Given the description of an element on the screen output the (x, y) to click on. 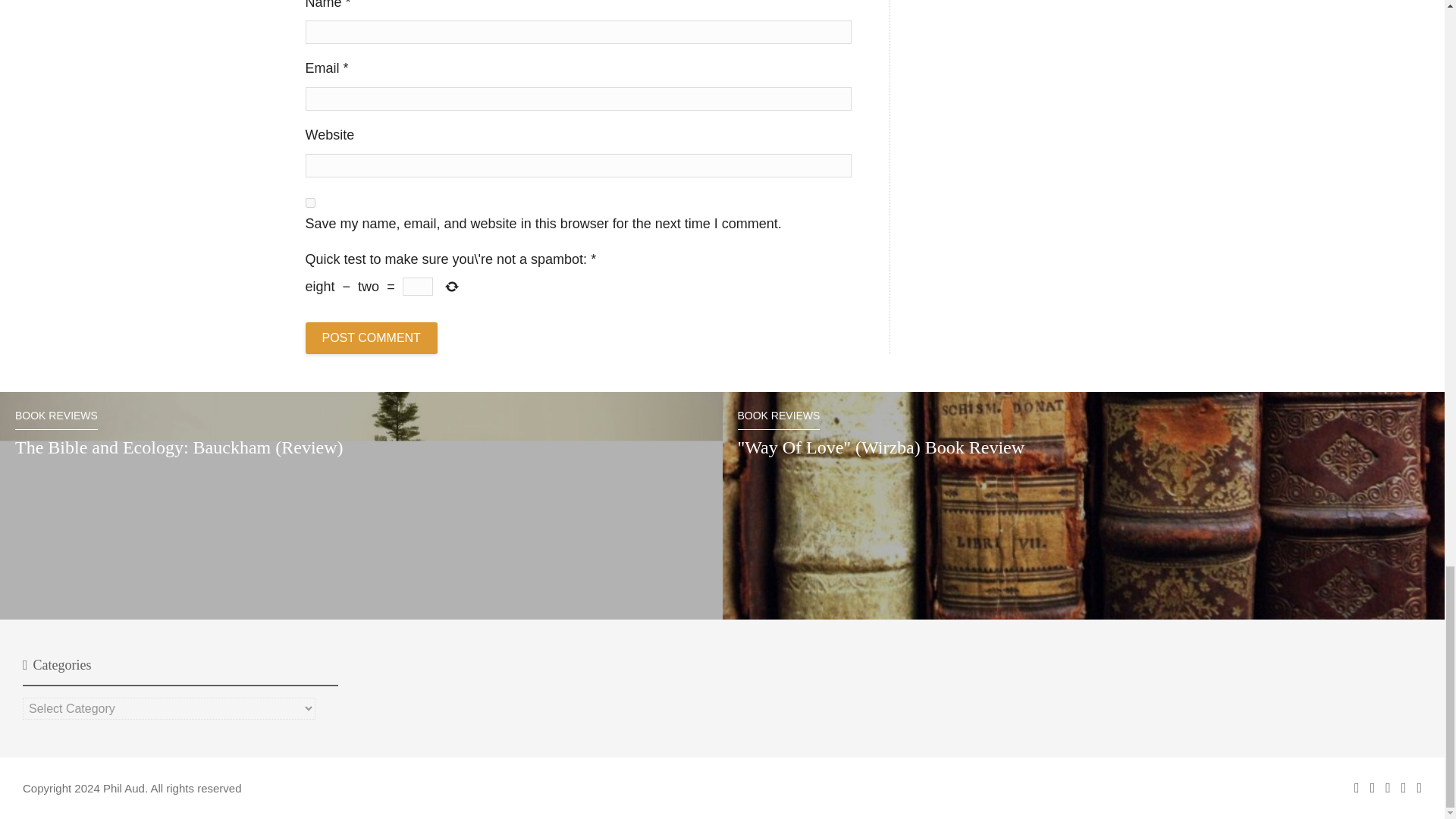
BOOK REVIEWS (777, 419)
yes (309, 203)
BOOK REVIEWS (55, 419)
Post Comment (370, 337)
Post Comment (370, 337)
